Given the description of an element on the screen output the (x, y) to click on. 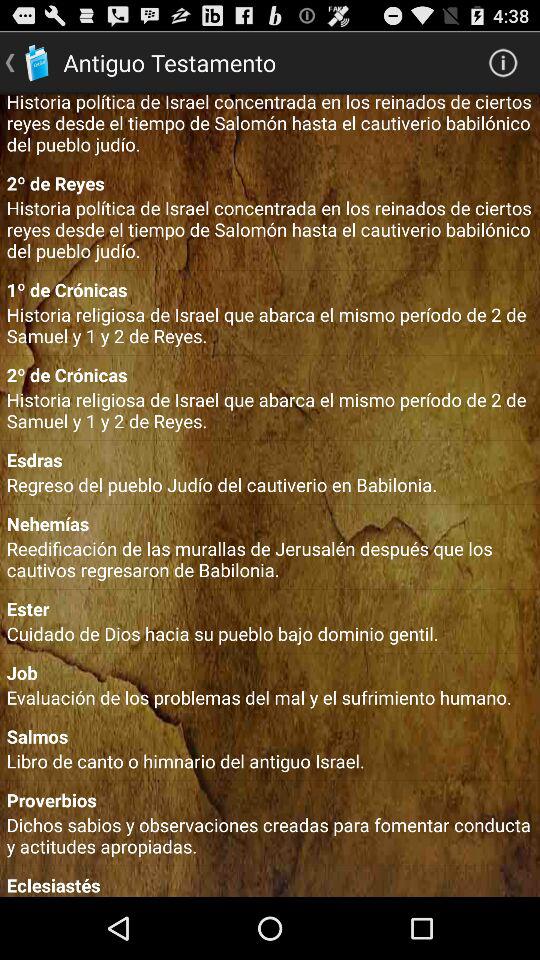
turn on icon next to the antiguo testamento (503, 62)
